Given the description of an element on the screen output the (x, y) to click on. 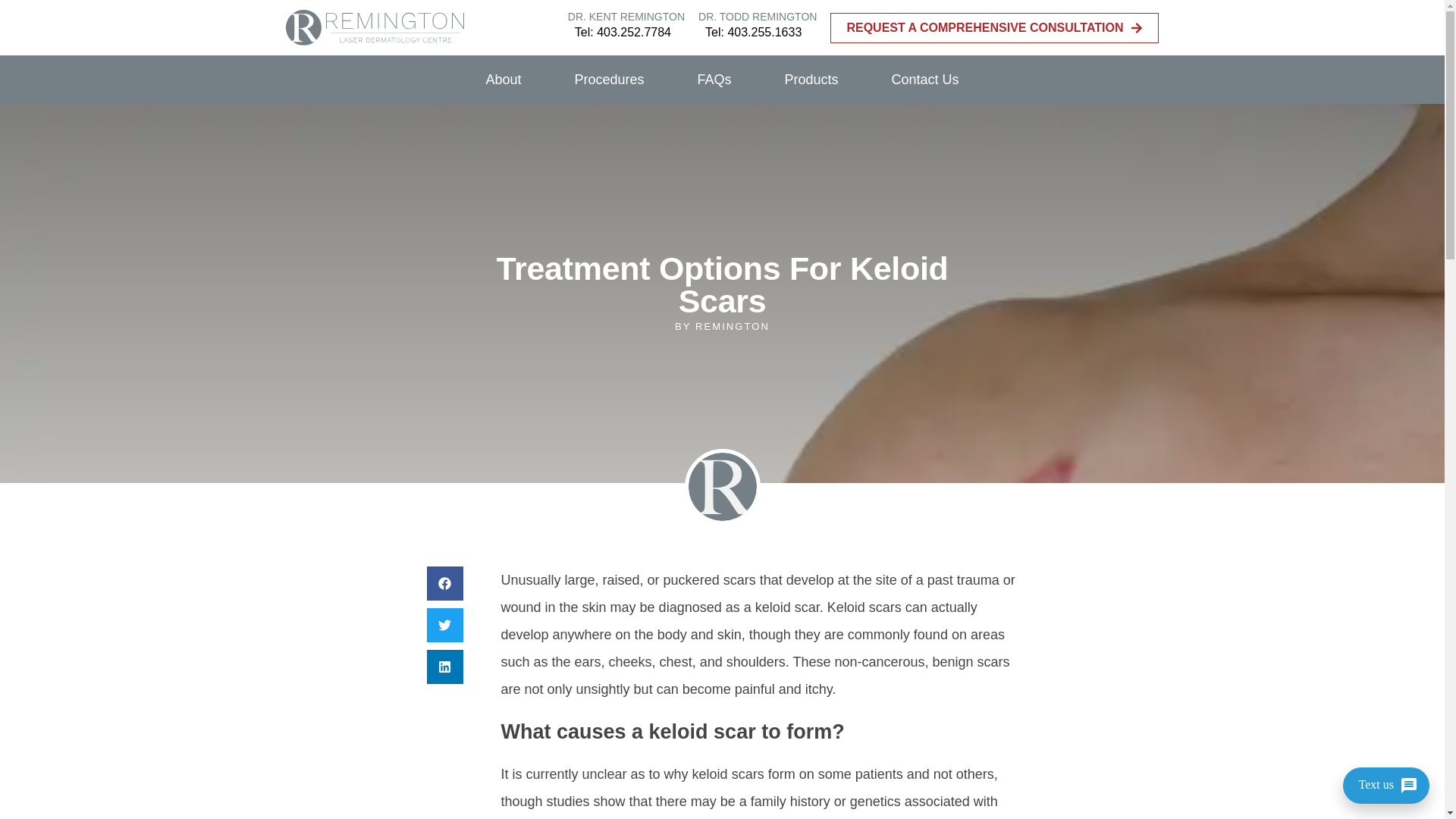
Tel: 403.252.7784 (623, 31)
Procedures (608, 79)
About (502, 79)
REQUEST A COMPREHENSIVE CONSULTATION (993, 28)
DR. TODD REMINGTON (757, 16)
Tel: 403.255.1633 (753, 31)
DR. KENT REMINGTON (625, 16)
